Given the description of an element on the screen output the (x, y) to click on. 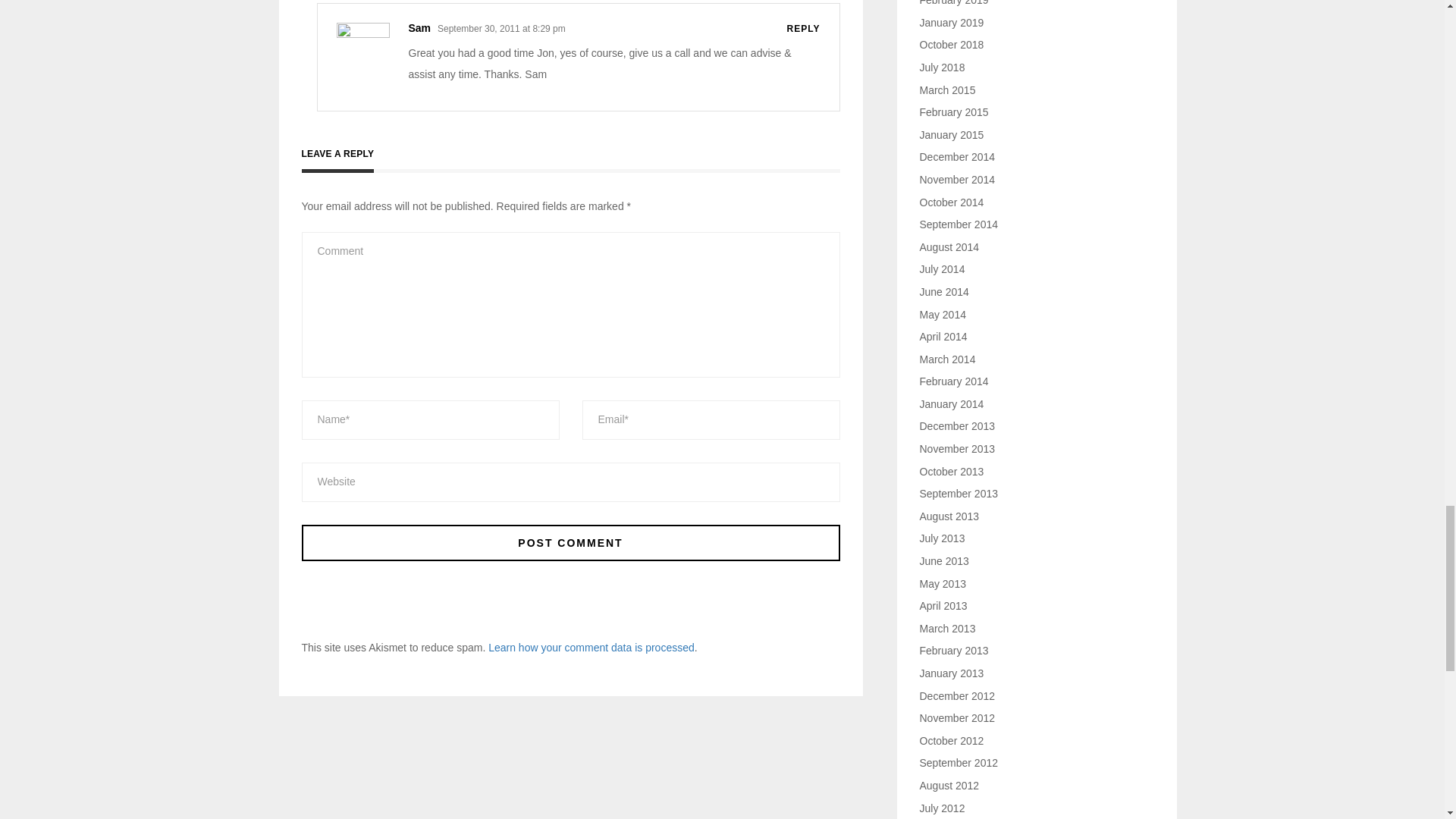
Post Comment (570, 542)
